Given the description of an element on the screen output the (x, y) to click on. 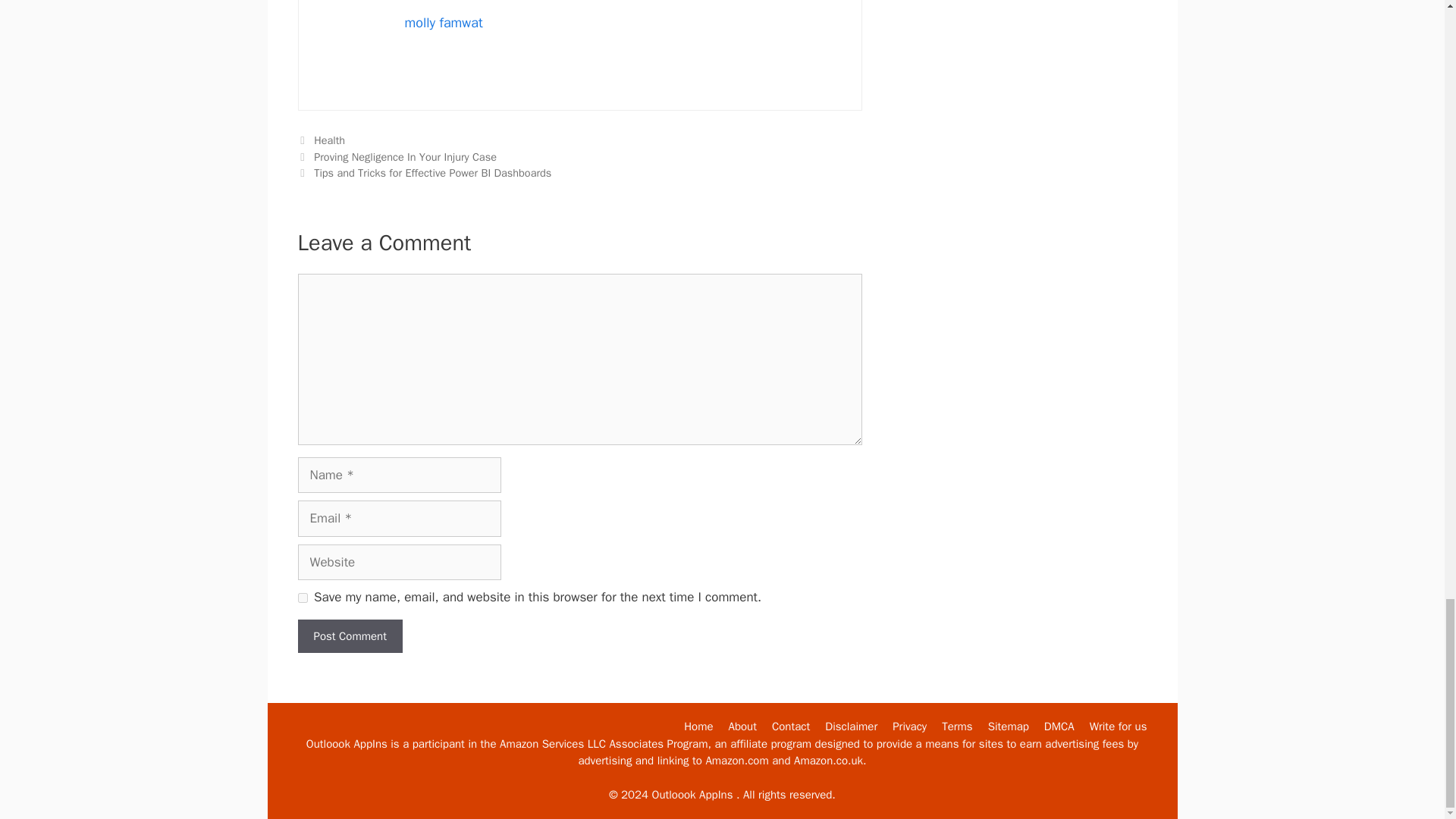
About (743, 726)
Post Comment (349, 636)
yes (302, 597)
Contact (790, 726)
Privacy (909, 726)
Outlook AppIns (698, 726)
Disclaimer (851, 726)
outlook appins (346, 744)
Sitemap (1008, 726)
DMCA Takedown (1058, 726)
